Given the description of an element on the screen output the (x, y) to click on. 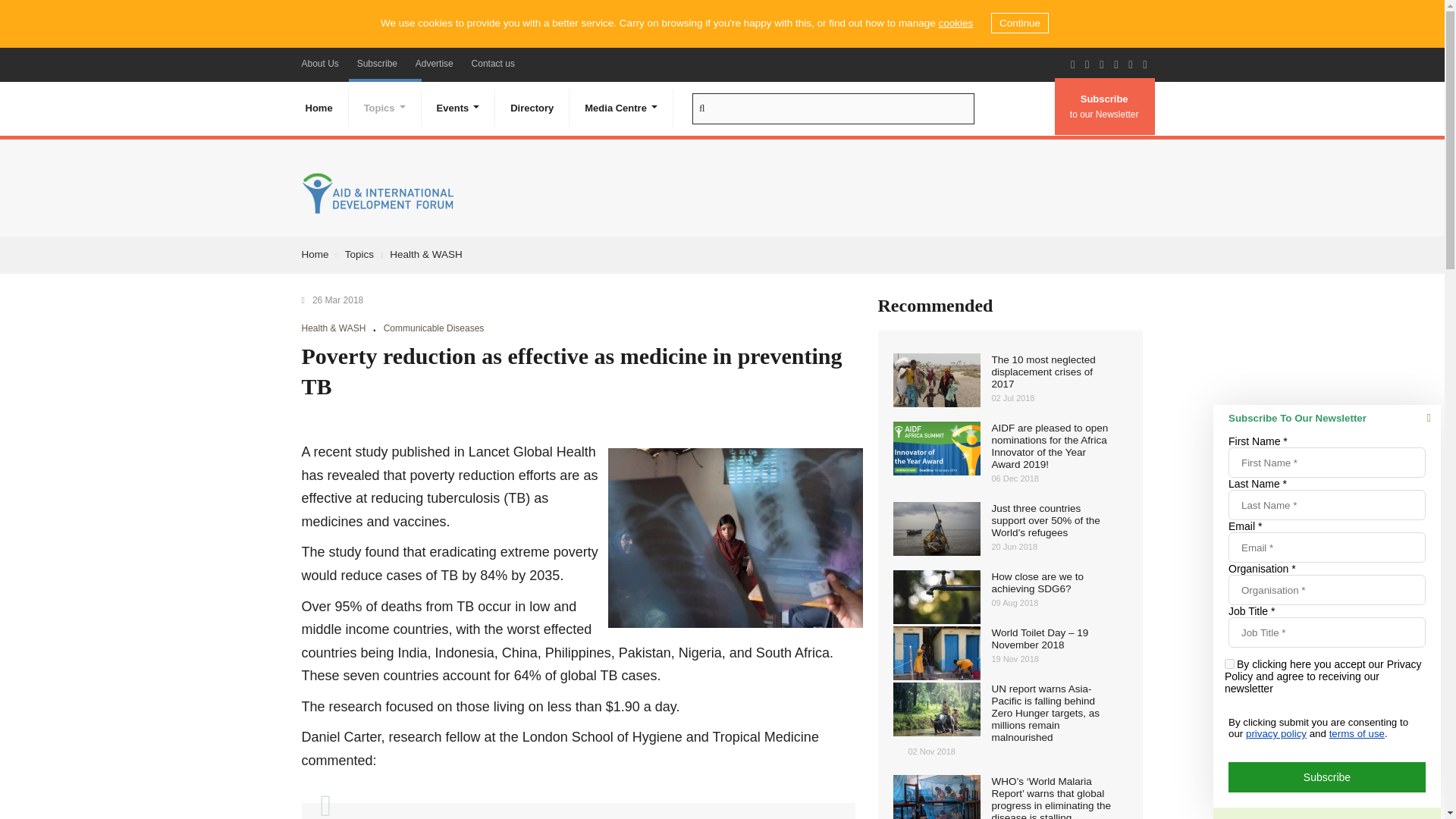
About Us (320, 63)
Instagram (1144, 64)
Subscribe (376, 63)
Home (318, 108)
cookies (954, 22)
Contact us (493, 63)
Advertise (434, 63)
Topics... (385, 108)
Twitter (1087, 64)
Facebook (1072, 64)
Linkedin (1101, 64)
Youtube (1115, 64)
LinkedIn Group (1129, 64)
